Given the description of an element on the screen output the (x, y) to click on. 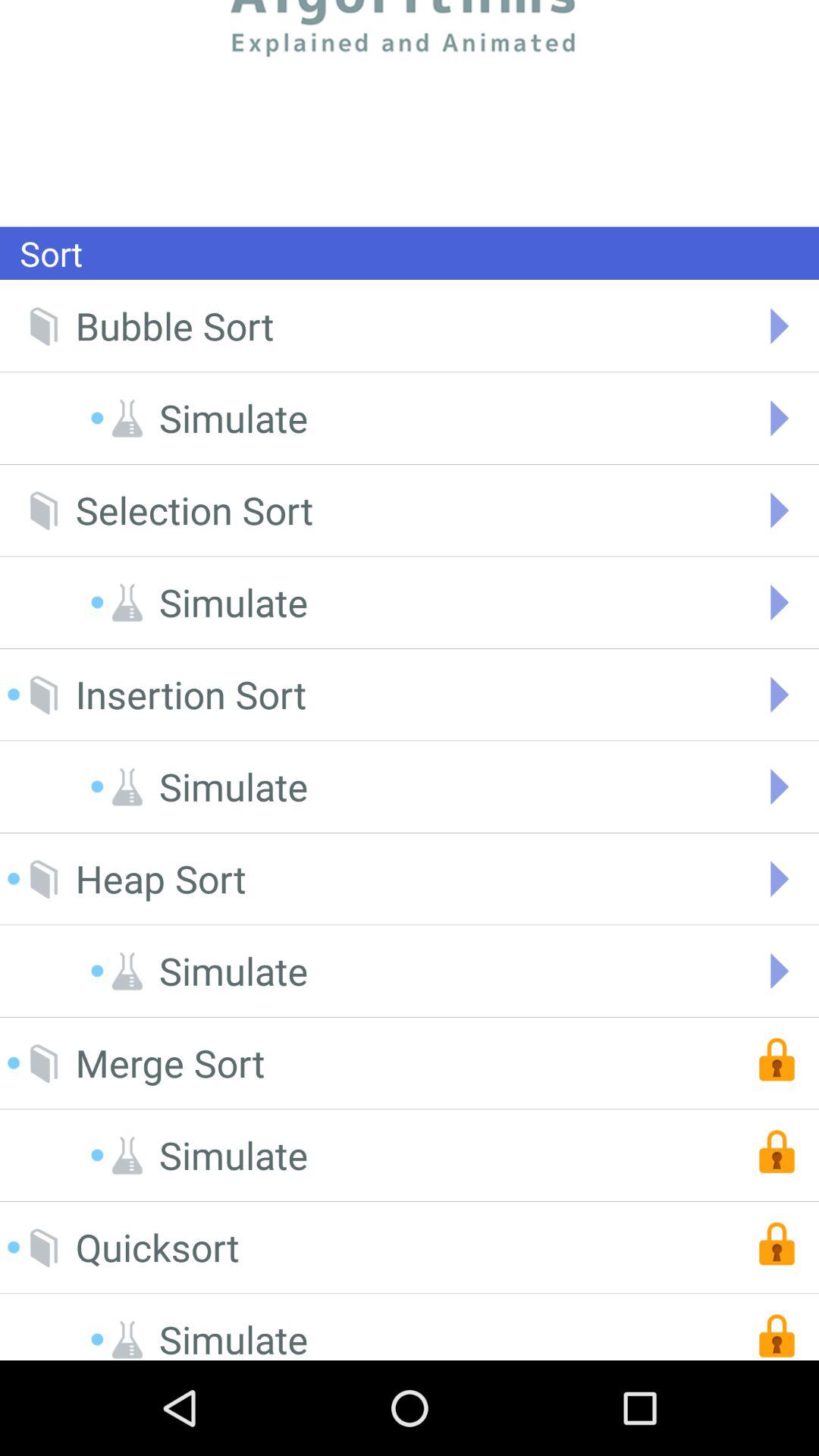
choose icon below simulate (160, 878)
